Given the description of an element on the screen output the (x, y) to click on. 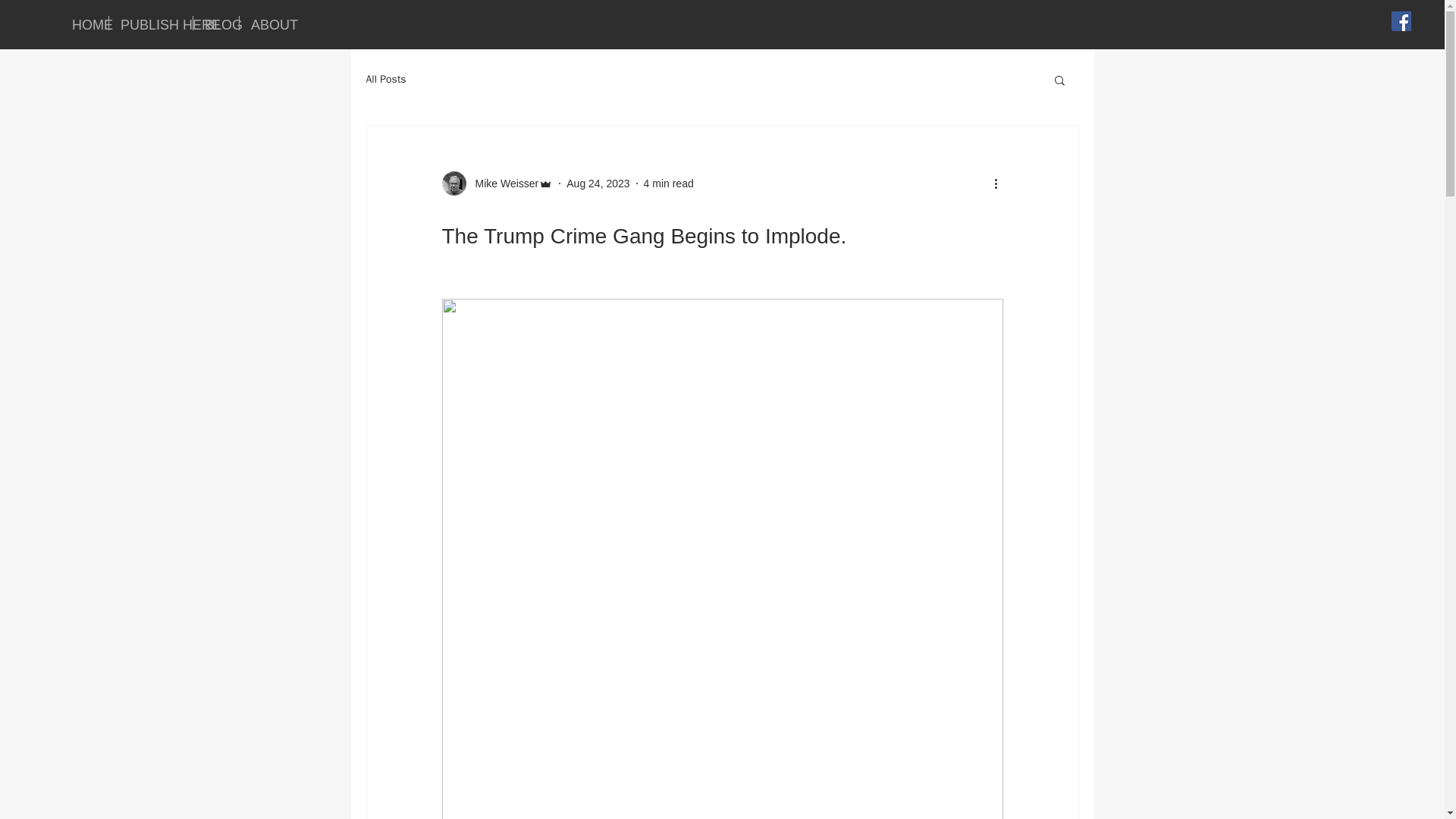
Mike Weisser (497, 183)
PUBLISH HERE (150, 22)
HOME (84, 22)
ABOUT (266, 22)
Aug 24, 2023 (597, 183)
4 min read (668, 183)
Mike Weisser (501, 183)
All Posts (385, 79)
BLOG (215, 22)
